Given the description of an element on the screen output the (x, y) to click on. 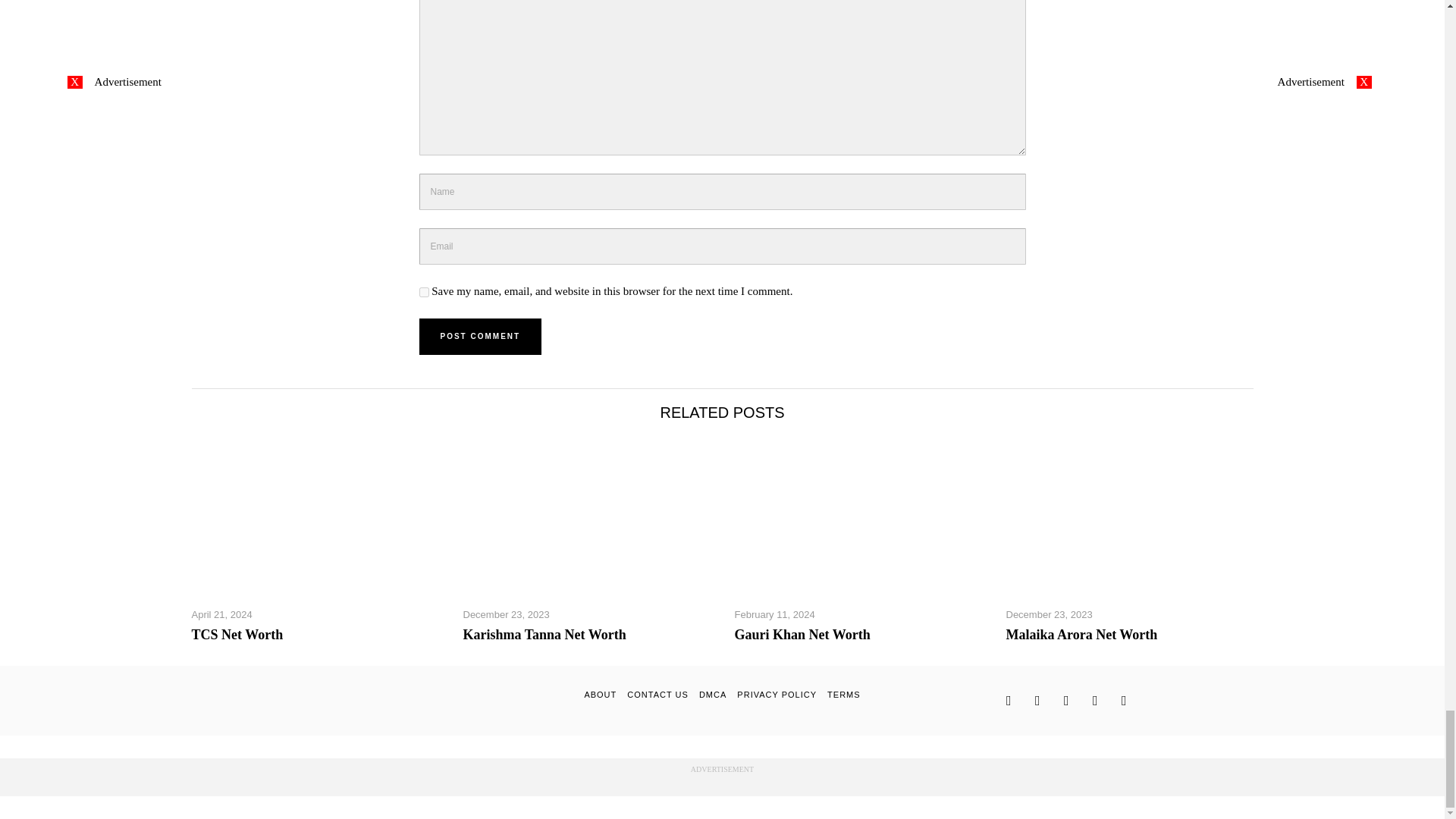
23 Dec, 2023 13:04:23 (505, 614)
yes (423, 292)
Post Comment (480, 336)
23 Dec, 2023 13:13:23 (1049, 614)
21 Apr, 2024 13:19:25 (220, 614)
11 Feb, 2024 10:57:36 (773, 614)
